Given the description of an element on the screen output the (x, y) to click on. 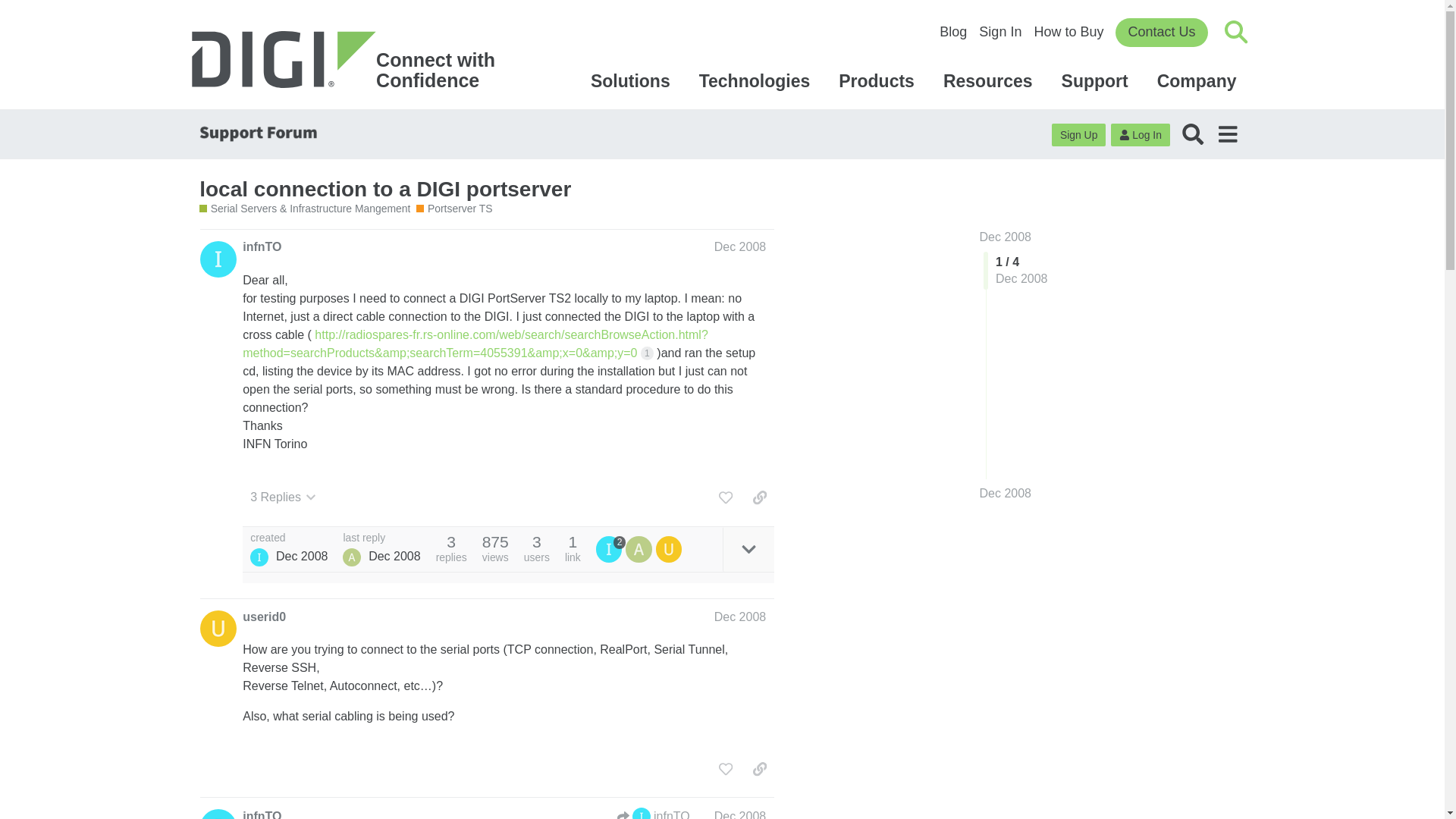
Blog (952, 31)
Solutions (632, 81)
Click to toggle solutions menu (632, 81)
Home (349, 61)
Contact Us (1161, 32)
Click to toggle techologies menu (757, 81)
Sign In (349, 61)
Click to toggle support menu (1000, 31)
Jump to the first post (1198, 81)
Click to toggle resources menu (1005, 236)
How to Buy (990, 81)
like this post (1068, 31)
Search (725, 497)
Click to toggle products menu (1192, 133)
